Given the description of an element on the screen output the (x, y) to click on. 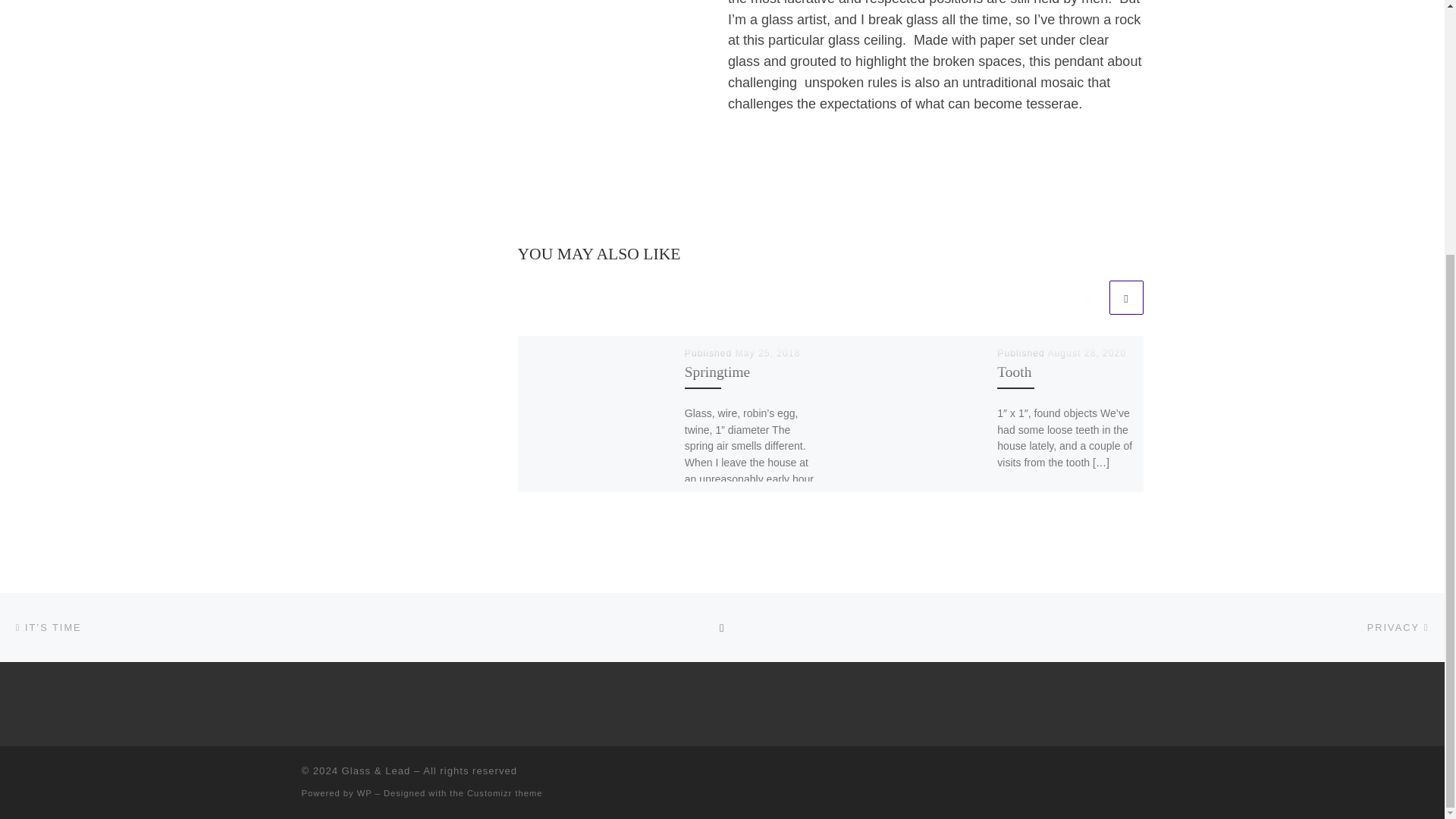
Next related articles (1125, 297)
May 25, 2018 (767, 353)
Springtime (716, 371)
Previous related articles (1088, 297)
